Given the description of an element on the screen output the (x, y) to click on. 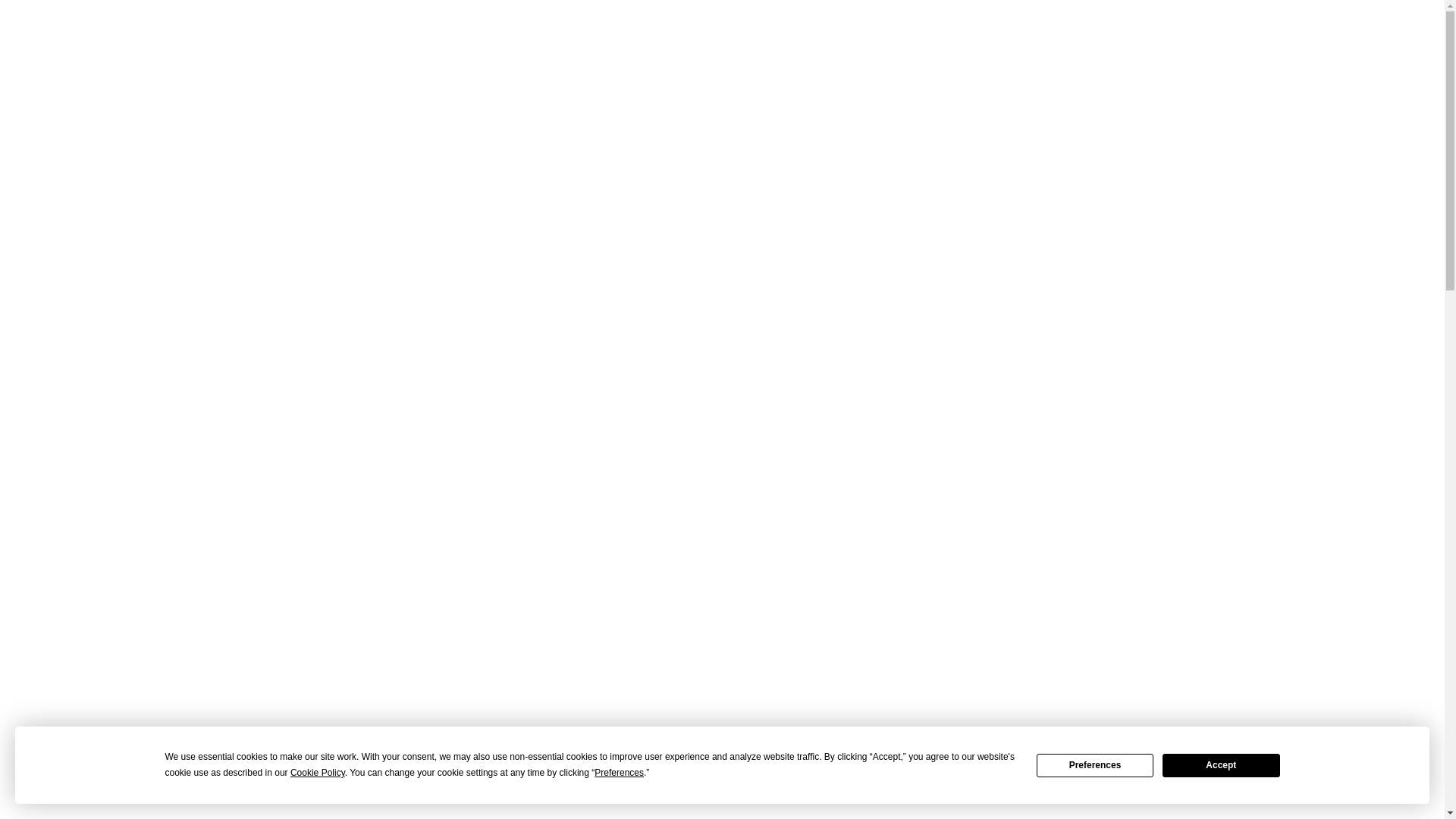
Accept (1220, 765)
Preferences (1094, 765)
